Given the description of an element on the screen output the (x, y) to click on. 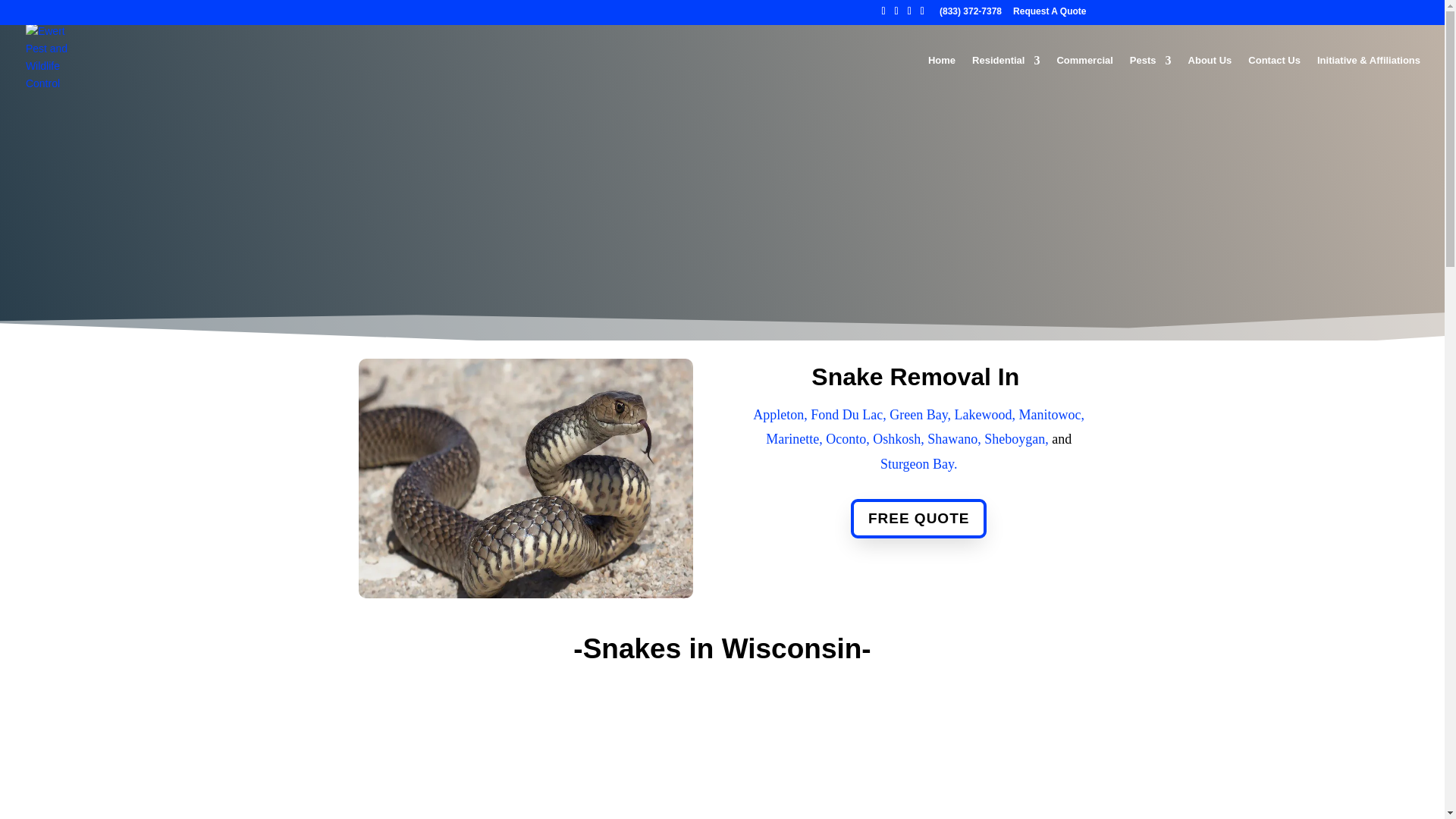
Green Bay, (921, 414)
Lakewood, (987, 414)
Appleton, (781, 414)
Sheboygan, (1017, 438)
Oconto, (848, 438)
Contact Us (1273, 76)
Commercial (1084, 76)
About Us (1209, 76)
Residential (1005, 76)
Snakes (525, 478)
